Given the description of an element on the screen output the (x, y) to click on. 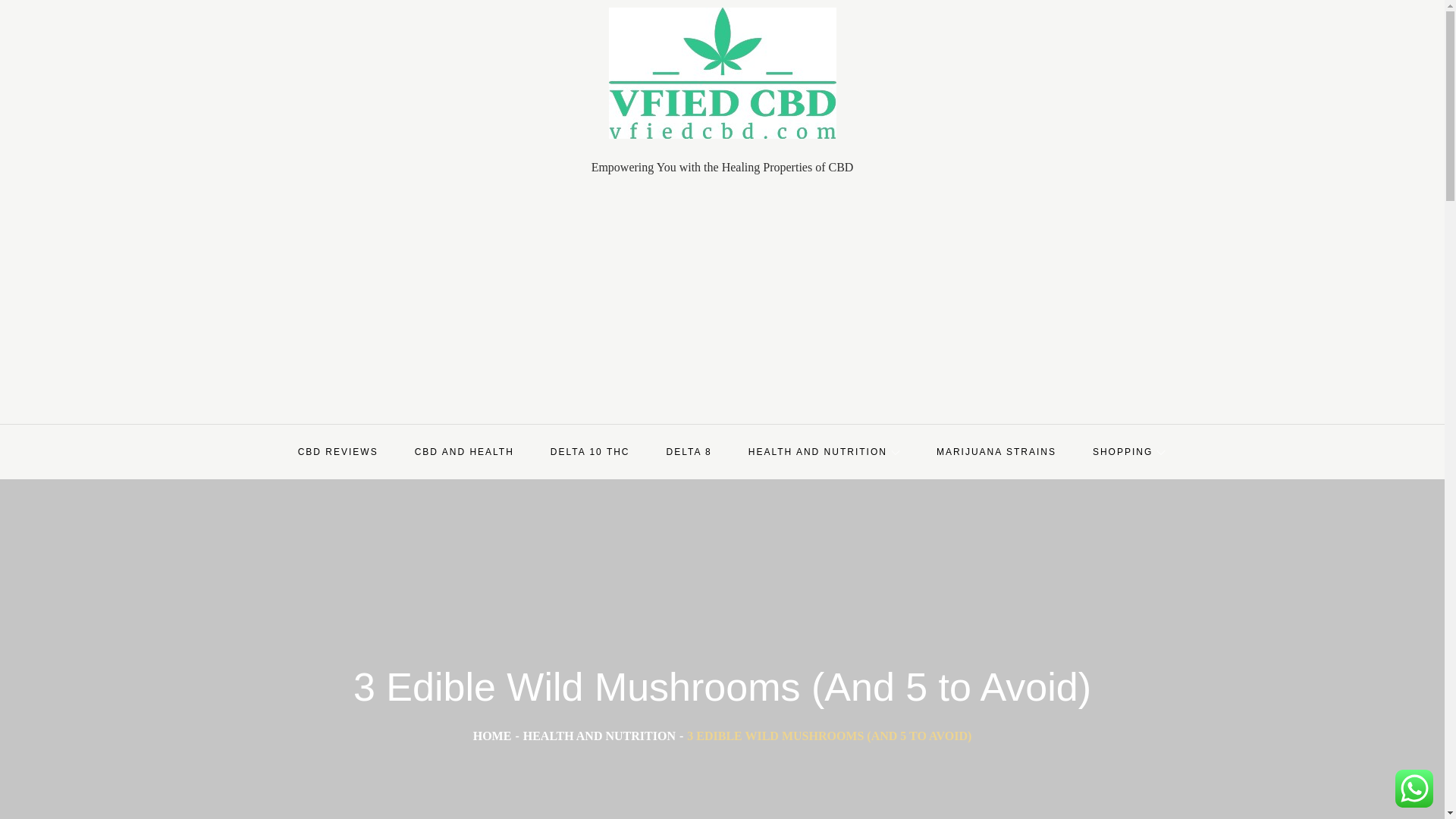
CBD REVIEWS (337, 452)
HEALTH AND NUTRITION (598, 735)
DELTA 10 THC (590, 452)
HOME (492, 735)
SHOPPING (1128, 452)
MARIJUANA STRAINS (996, 452)
DELTA 8 (689, 452)
CBD AND HEALTH (464, 452)
HEALTH AND NUTRITION (824, 452)
